Given the description of an element on the screen output the (x, y) to click on. 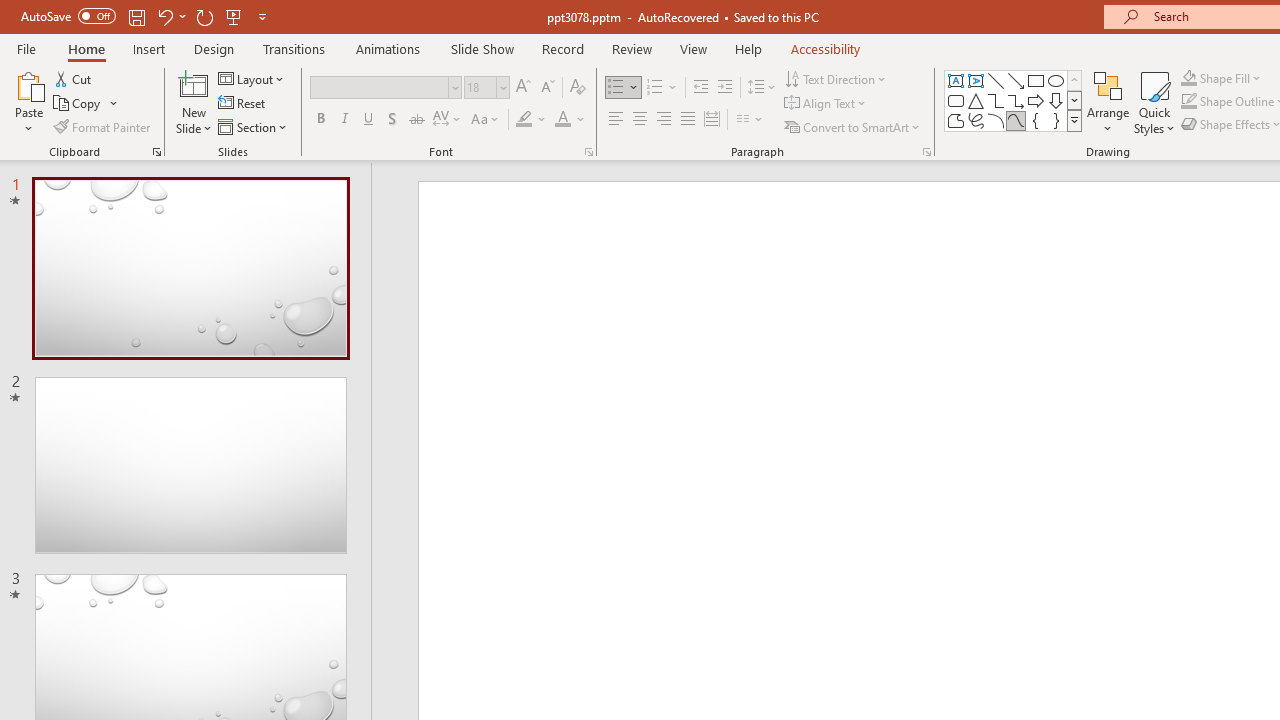
Numbering (654, 87)
Text Direction (836, 78)
AutomationID: ShapesInsertGallery (1014, 100)
Copy (78, 103)
Paste (28, 102)
Arc (995, 120)
Open (502, 87)
Curve (1016, 120)
Layout (252, 78)
Accessibility (825, 48)
Office Clipboard... (156, 151)
